Given the description of an element on the screen output the (x, y) to click on. 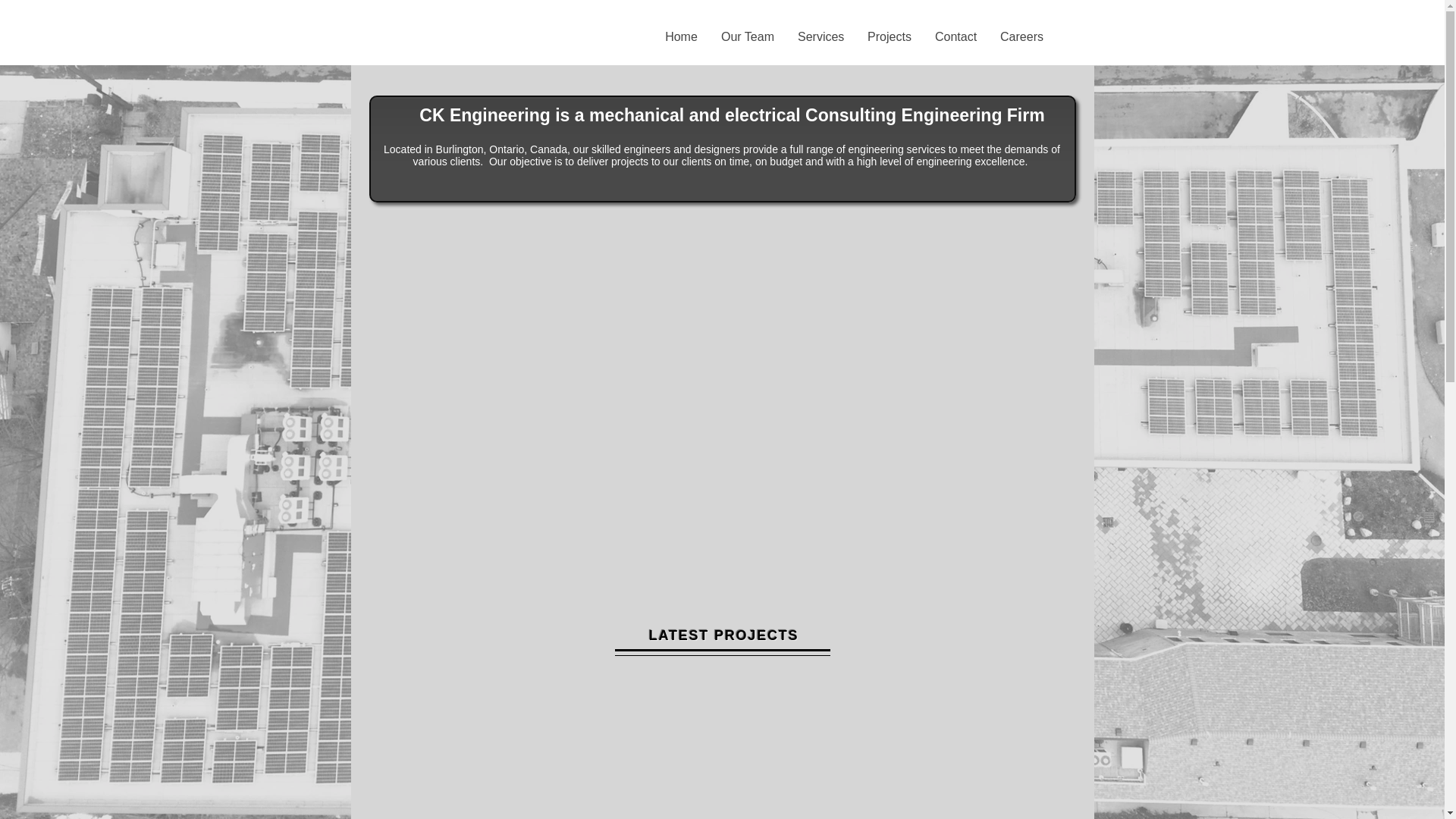
Contact (955, 36)
Projects (889, 36)
Services (821, 36)
Careers (1021, 36)
Our Team (748, 36)
Home (681, 36)
